Given the description of an element on the screen output the (x, y) to click on. 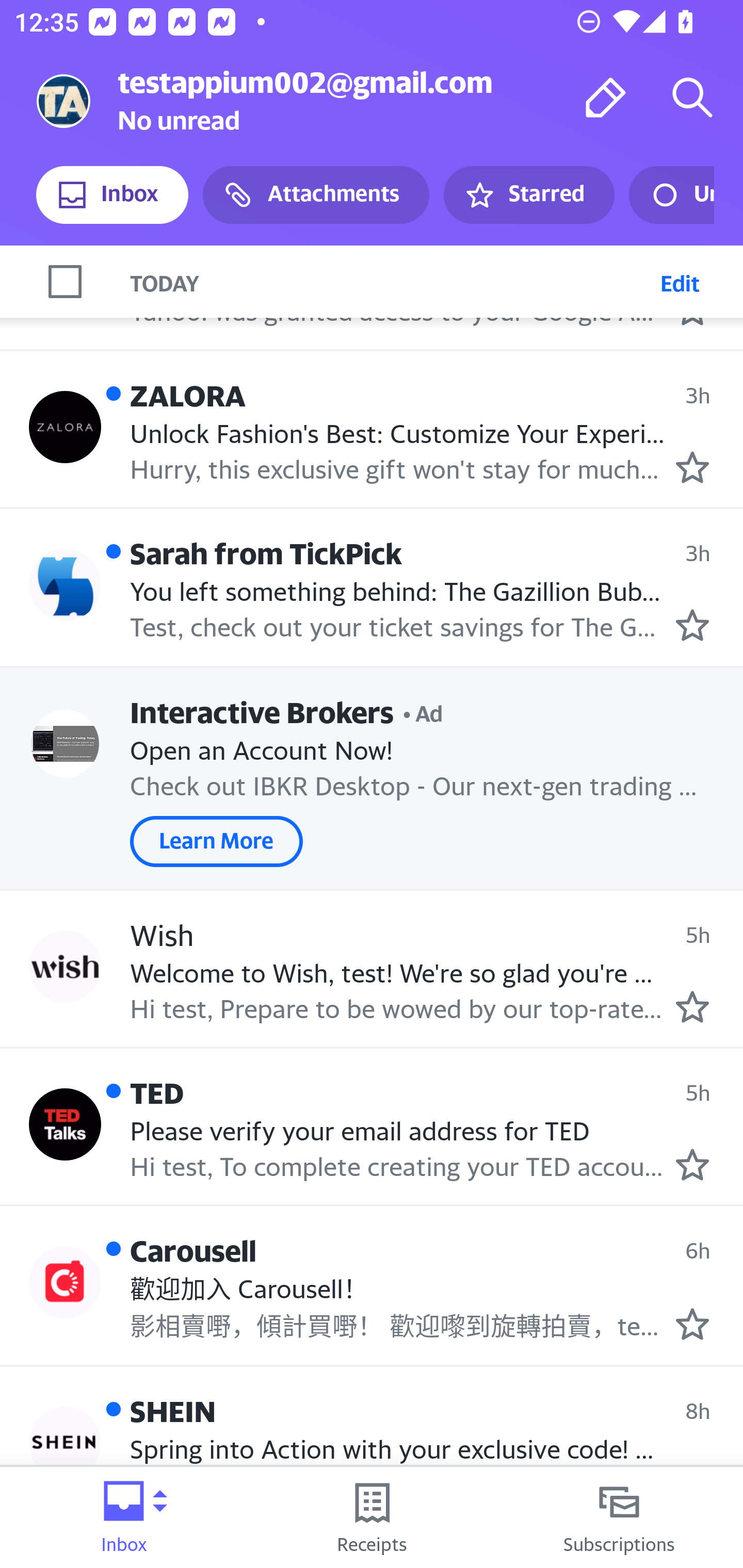
Compose (605, 97)
Search mail (692, 97)
Attachments (315, 195)
Starred (528, 195)
Profile
Google (64, 275)
Profile
ZALORA (64, 426)
Mark as starred. (692, 468)
Profile
Sarah from TickPick (64, 584)
Mark as starred. (692, 624)
Profile
Wish (64, 965)
Mark as starred. (692, 1007)
Profile
TED (64, 1124)
Mark as starred. (692, 1164)
Profile
Carousell (64, 1282)
Mark as starred. (692, 1324)
Profile
SHEIN (64, 1442)
Inbox Folder picker (123, 1517)
Receipts (371, 1517)
Subscriptions (619, 1517)
